Given the description of an element on the screen output the (x, y) to click on. 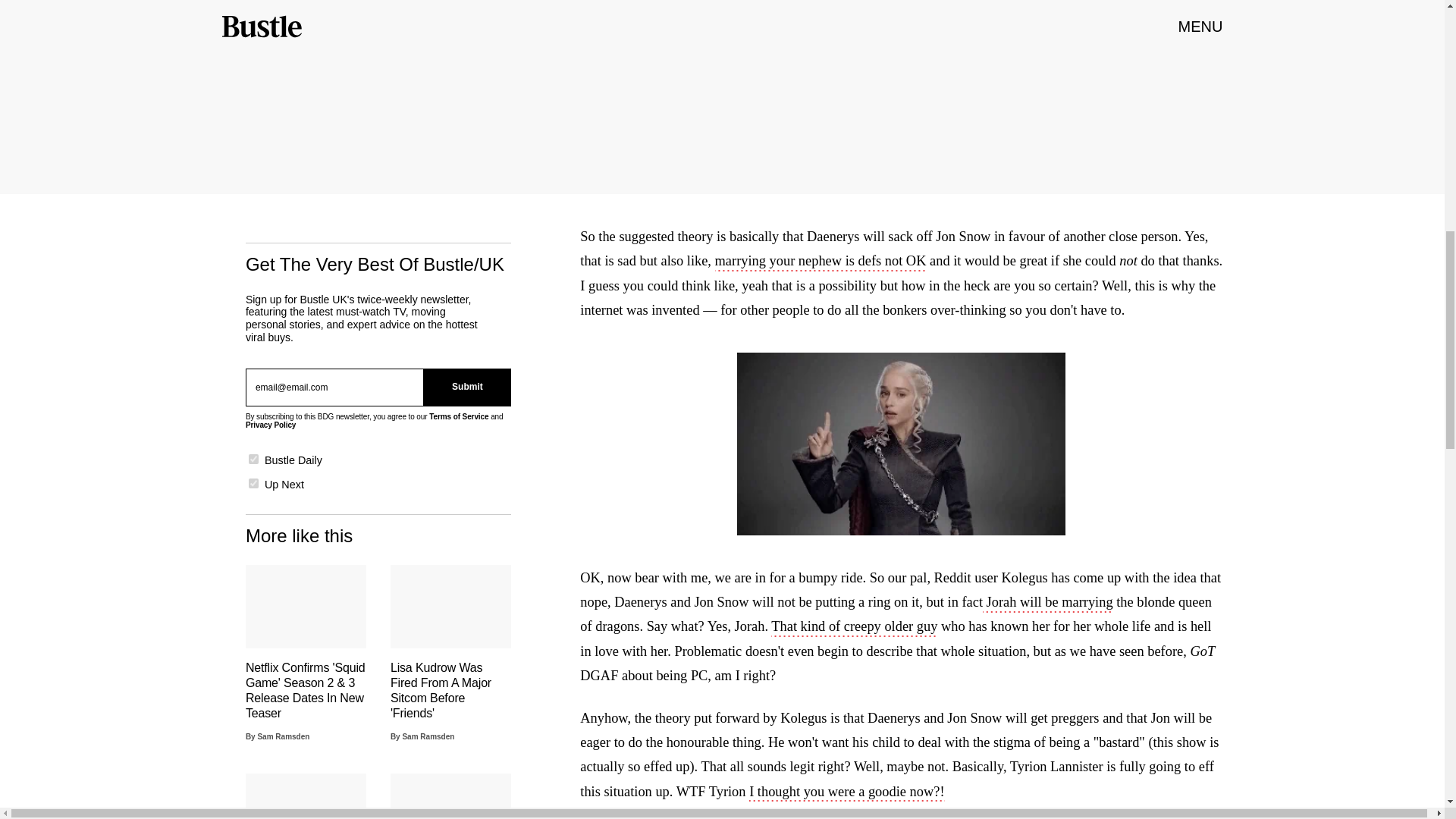
Jorah will be marrying (1047, 603)
I thought you were a goodie now?! (846, 792)
Terms of Service (458, 416)
Privacy Policy (270, 424)
That kind of creepy older guy (854, 628)
marrying your nephew is defs not OK (820, 262)
Submit (467, 387)
